Given the description of an element on the screen output the (x, y) to click on. 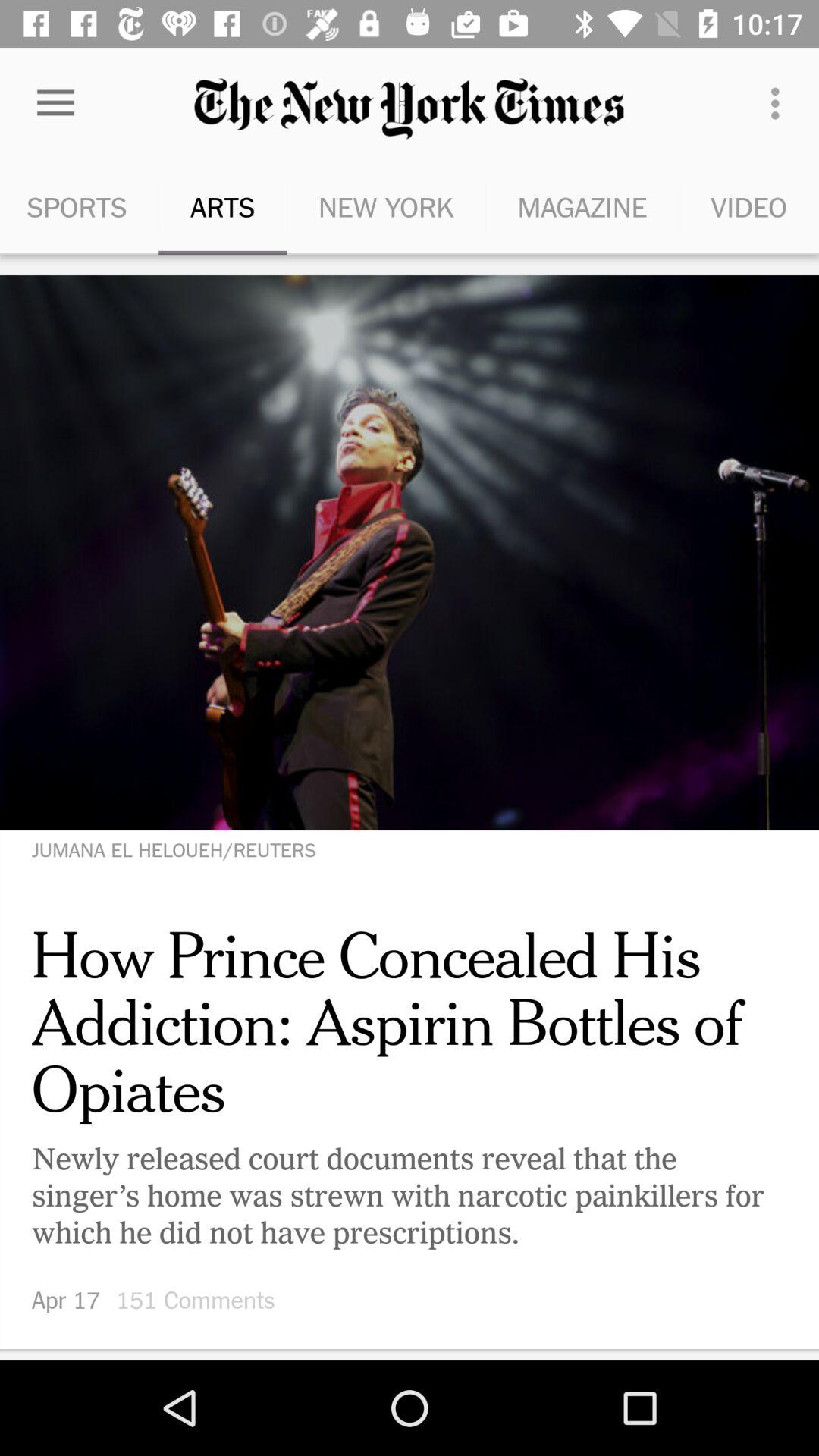
choose the icon to the left of arts icon (55, 103)
